Given the description of an element on the screen output the (x, y) to click on. 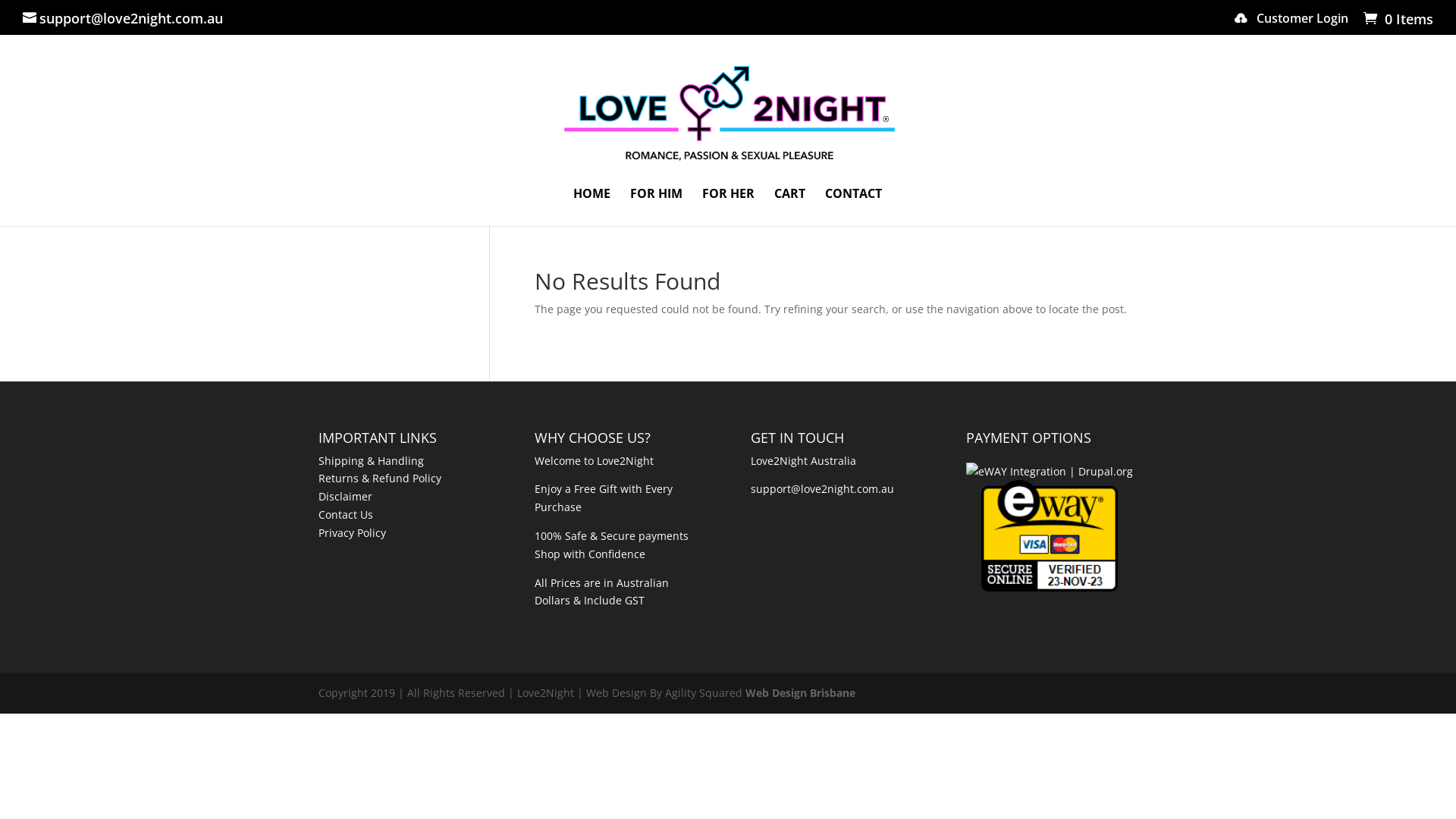
Customer Login Element type: text (1291, 21)
Returns & Refund Policy Element type: text (379, 477)
Contact Us Element type: text (345, 514)
HOME Element type: text (591, 206)
FOR HER Element type: text (728, 206)
Disclaimer Element type: text (345, 496)
support@love2night.com.au Element type: text (122, 18)
support@love2night.com.au Element type: text (822, 488)
Privacy Policy Element type: text (351, 532)
Shipping & Handling Element type: text (370, 460)
CART Element type: text (788, 206)
eWAY Payment Gateway Element type: hover (1049, 535)
Web Design Brisbane Element type: text (800, 692)
CONTACT Element type: text (853, 206)
FOR HIM Element type: text (655, 206)
0 Items Element type: text (1396, 18)
